Given the description of an element on the screen output the (x, y) to click on. 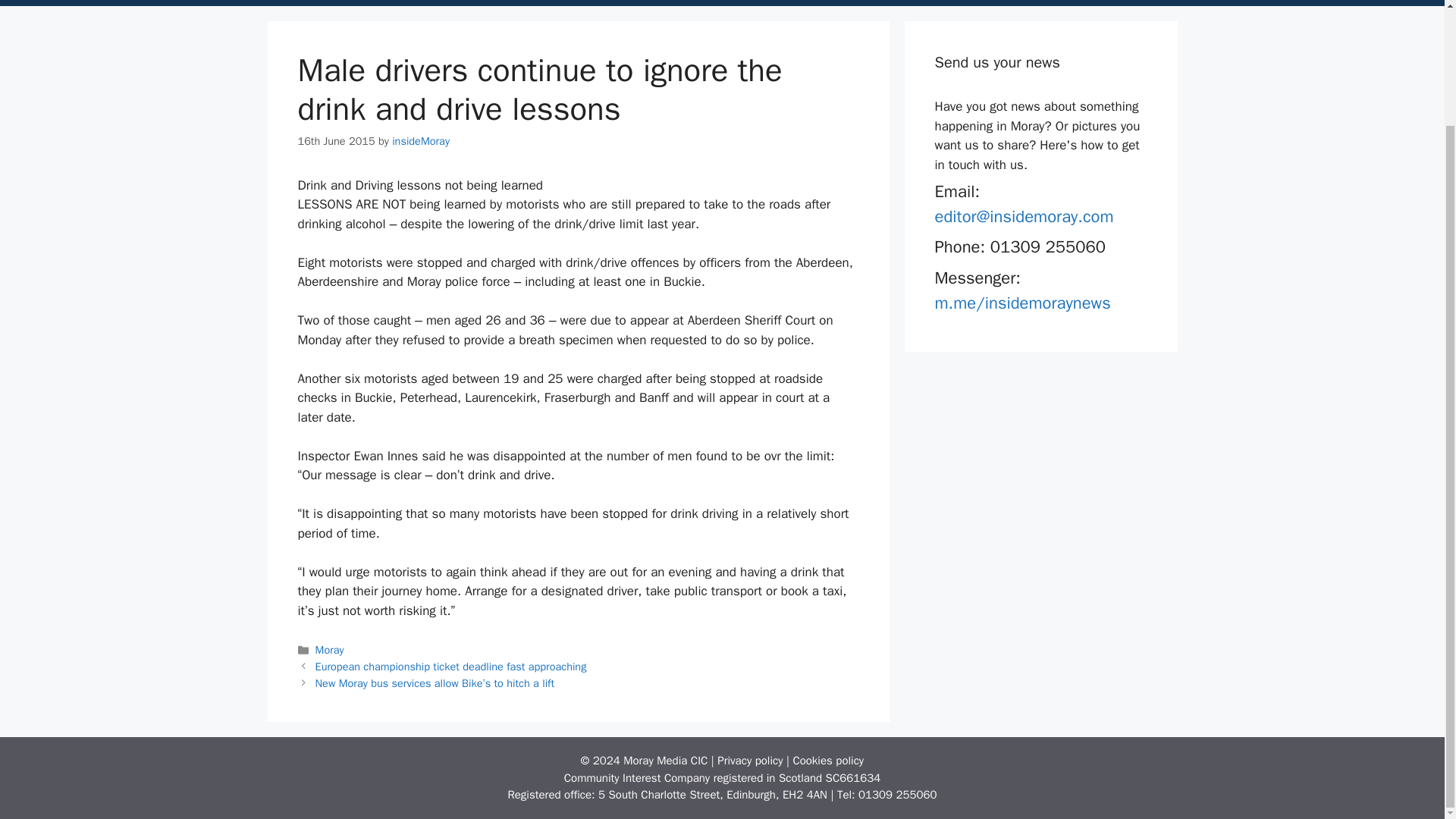
View all posts by insideMoray (420, 141)
News archive (458, 2)
European championship ticket deadline fast approaching (450, 666)
Cookies policy (827, 760)
insideMoray (420, 141)
Contact (376, 2)
Moray (329, 649)
Home (311, 2)
Privacy policy (750, 760)
